Given the description of an element on the screen output the (x, y) to click on. 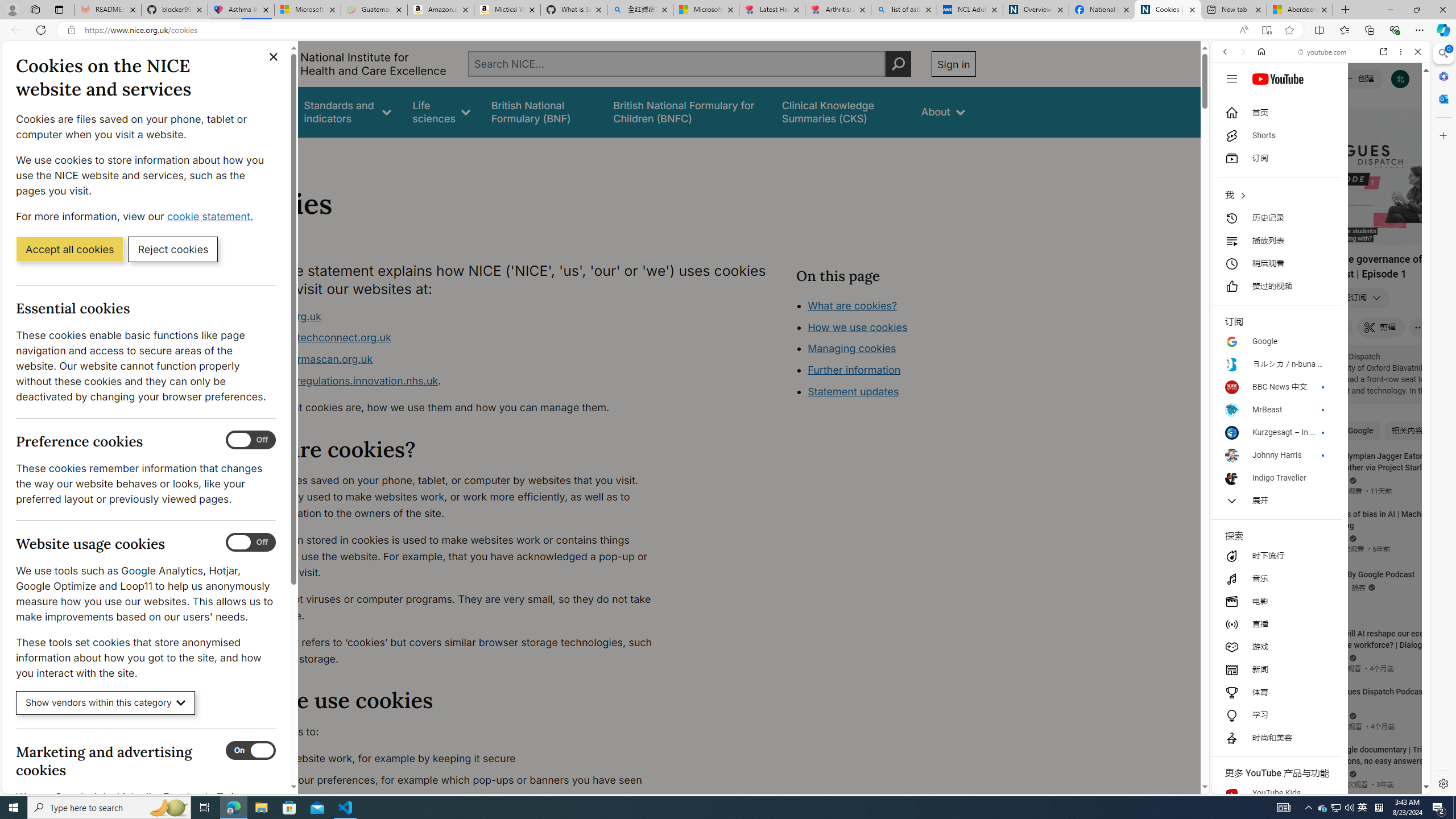
Music (1320, 309)
Life sciences (440, 111)
Google (1269, 292)
